Given the description of an element on the screen output the (x, y) to click on. 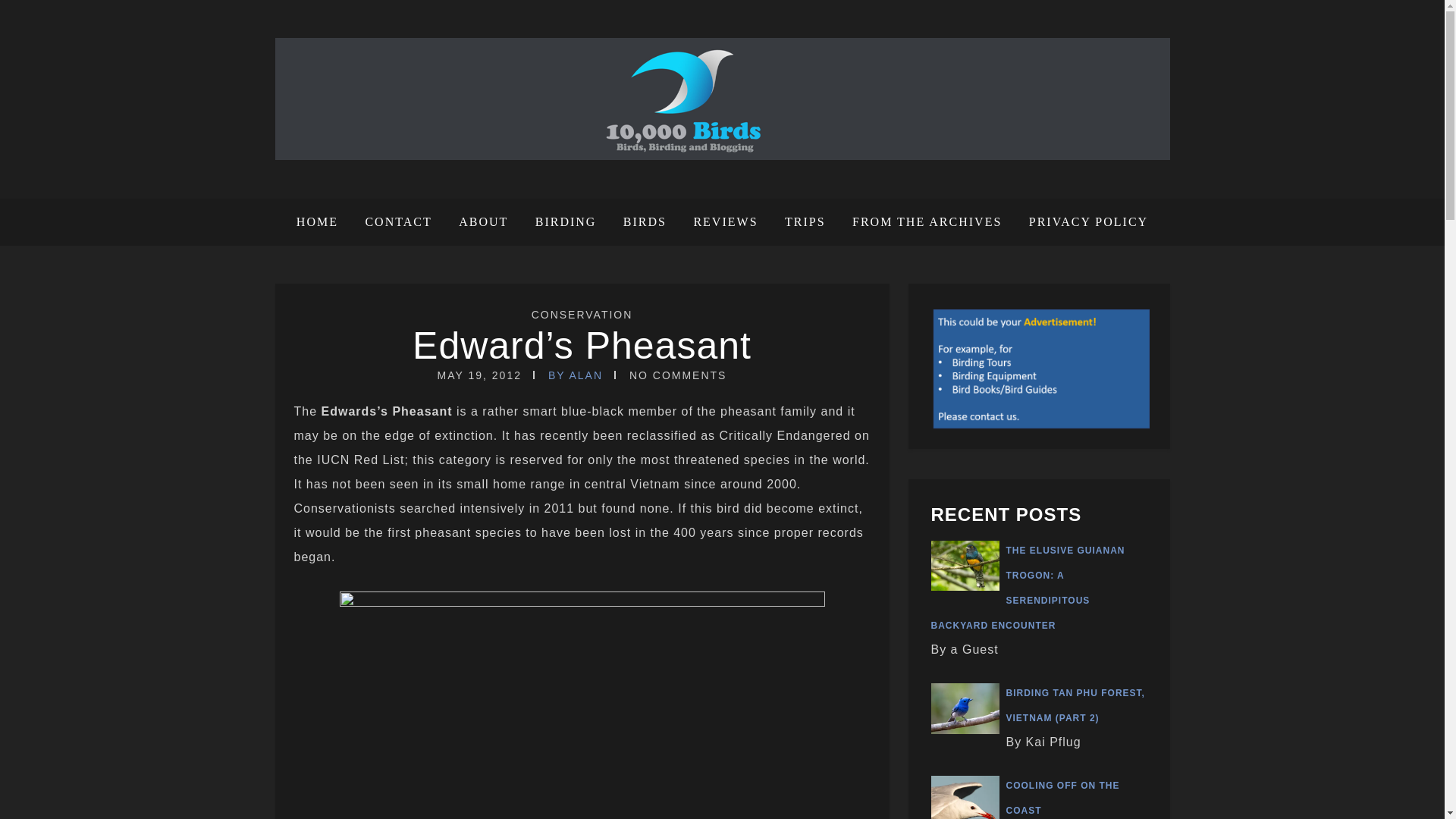
Permanent (581, 345)
ABOUT (482, 222)
TRIPS (805, 222)
FROM THE ARCHIVES (927, 222)
HOME (323, 222)
BIRDS (644, 222)
PRIVACY POLICY (1082, 222)
BIRDING (566, 222)
CONSERVATION (582, 314)
MAY 19, 2012 (479, 375)
NO COMMENTS (677, 375)
BY ALAN (575, 375)
REVIEWS (724, 222)
CONTACT (397, 222)
